Given the description of an element on the screen output the (x, y) to click on. 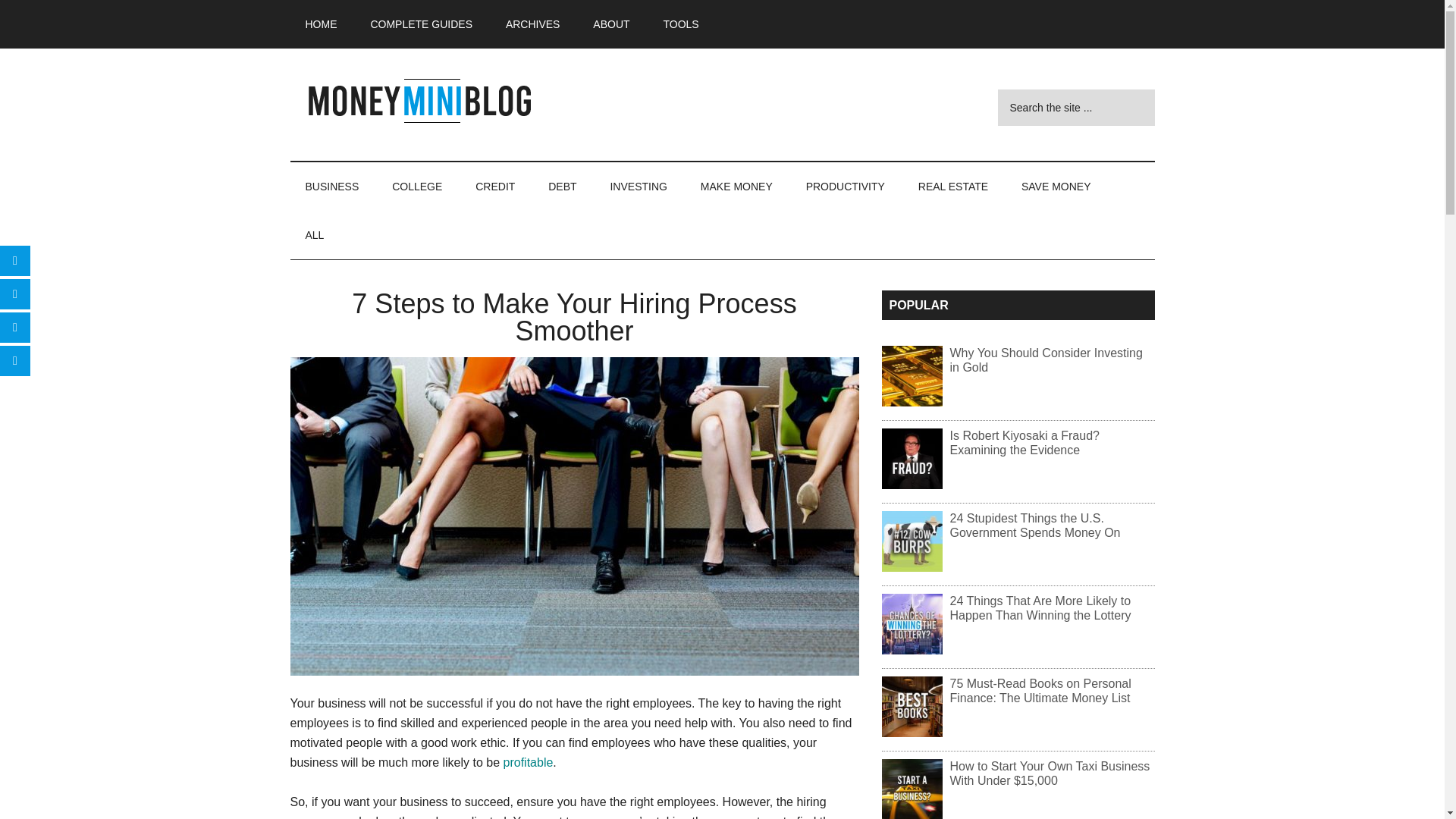
INVESTING (637, 186)
BUSINESS (331, 186)
ARCHIVES (532, 24)
REAL ESTATE (952, 186)
ALL (314, 234)
HOME (320, 24)
COLLEGE (417, 186)
CREDIT (494, 186)
